Given the description of an element on the screen output the (x, y) to click on. 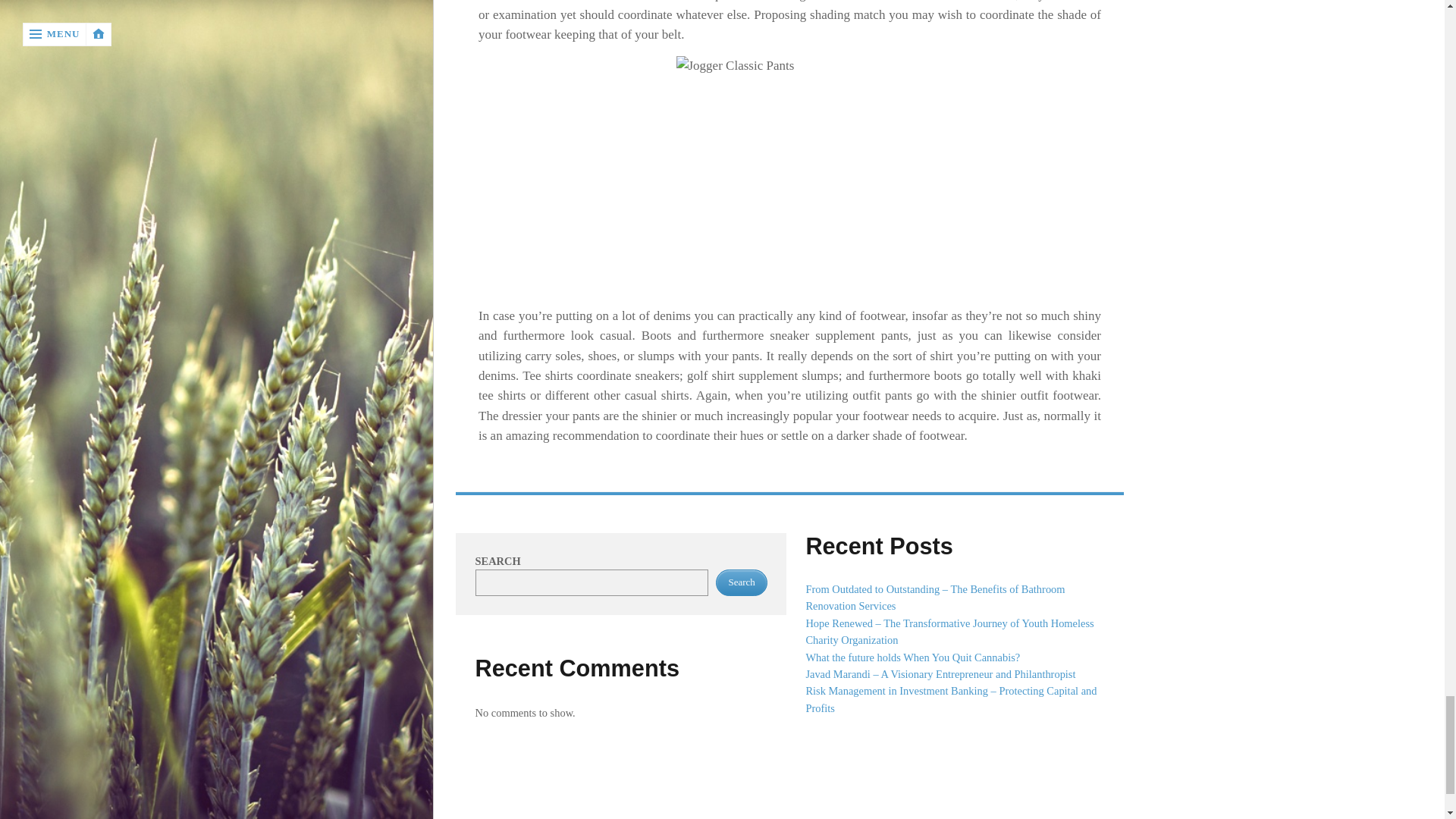
What the future holds When You Quit Cannabis? (912, 657)
Search (741, 582)
